Given the description of an element on the screen output the (x, y) to click on. 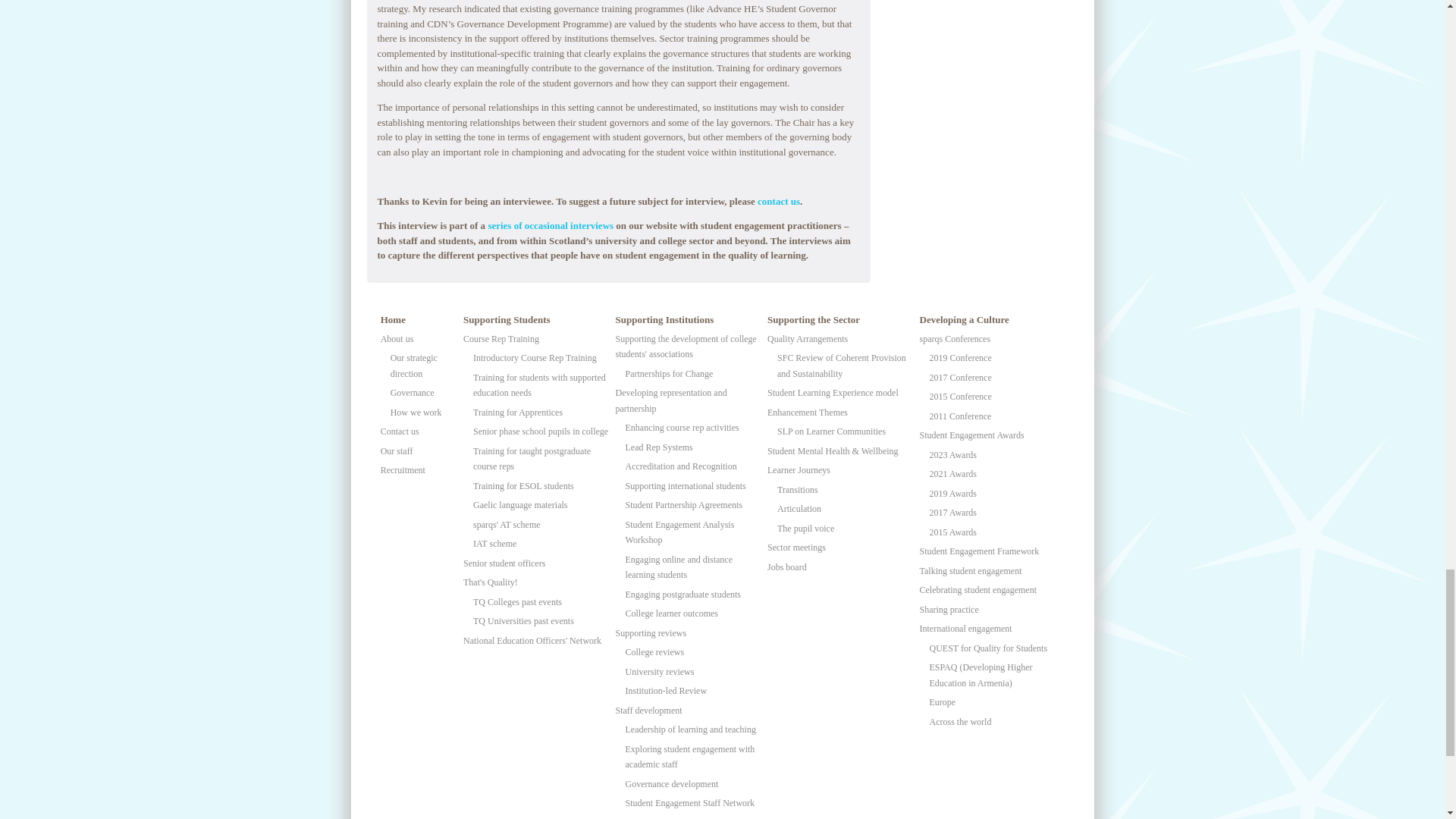
series of occasional interviews (549, 225)
contact us (778, 201)
